Given the description of an element on the screen output the (x, y) to click on. 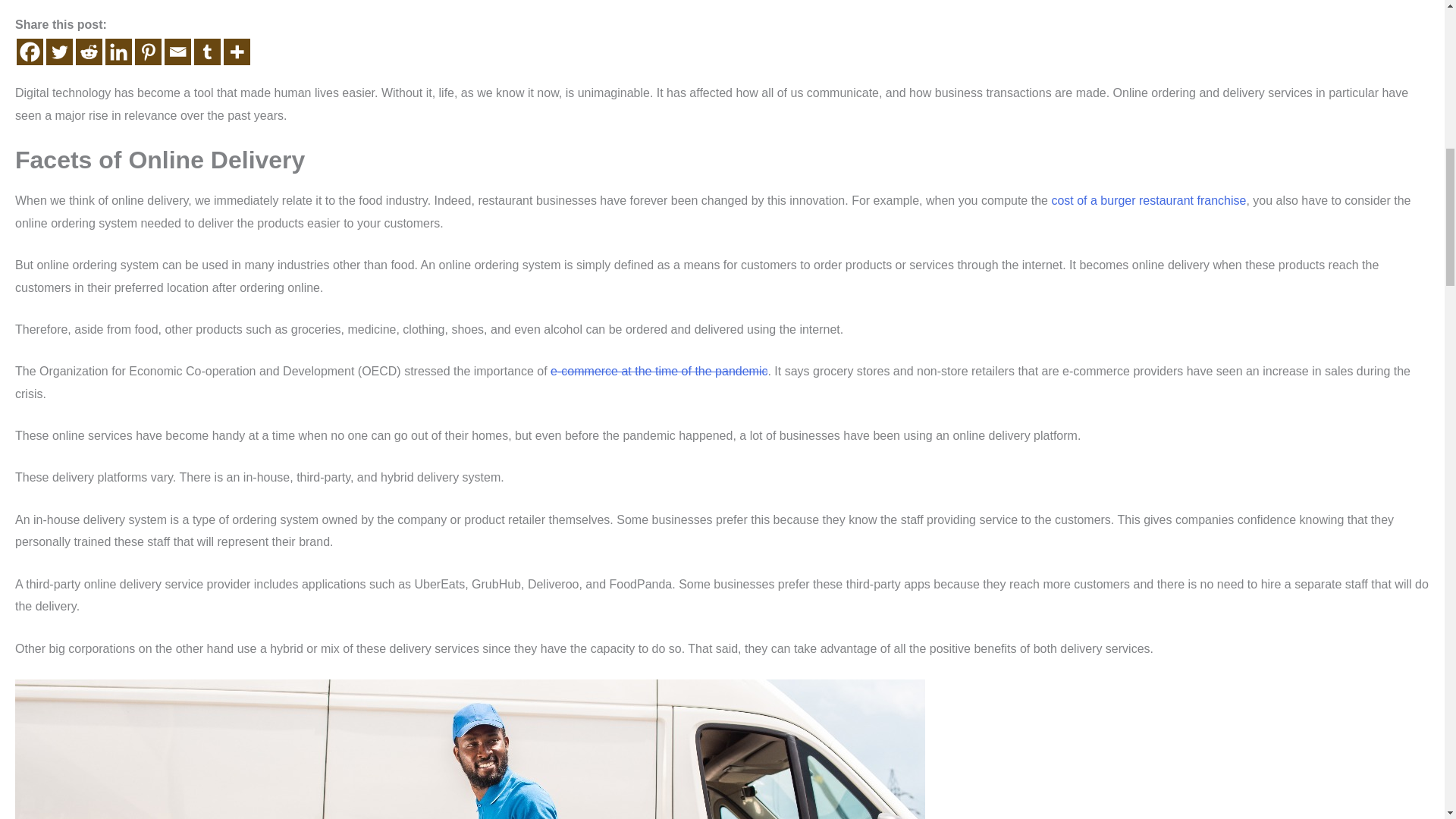
e-commerce at the time of the pandemic (658, 370)
Pinterest (148, 51)
Twitter (59, 51)
Email (177, 51)
Reddit (88, 51)
Linkedin (118, 51)
Tumblr (207, 51)
Facebook (29, 51)
More (237, 51)
cost of a burger restaurant franchise (1148, 200)
